Given the description of an element on the screen output the (x, y) to click on. 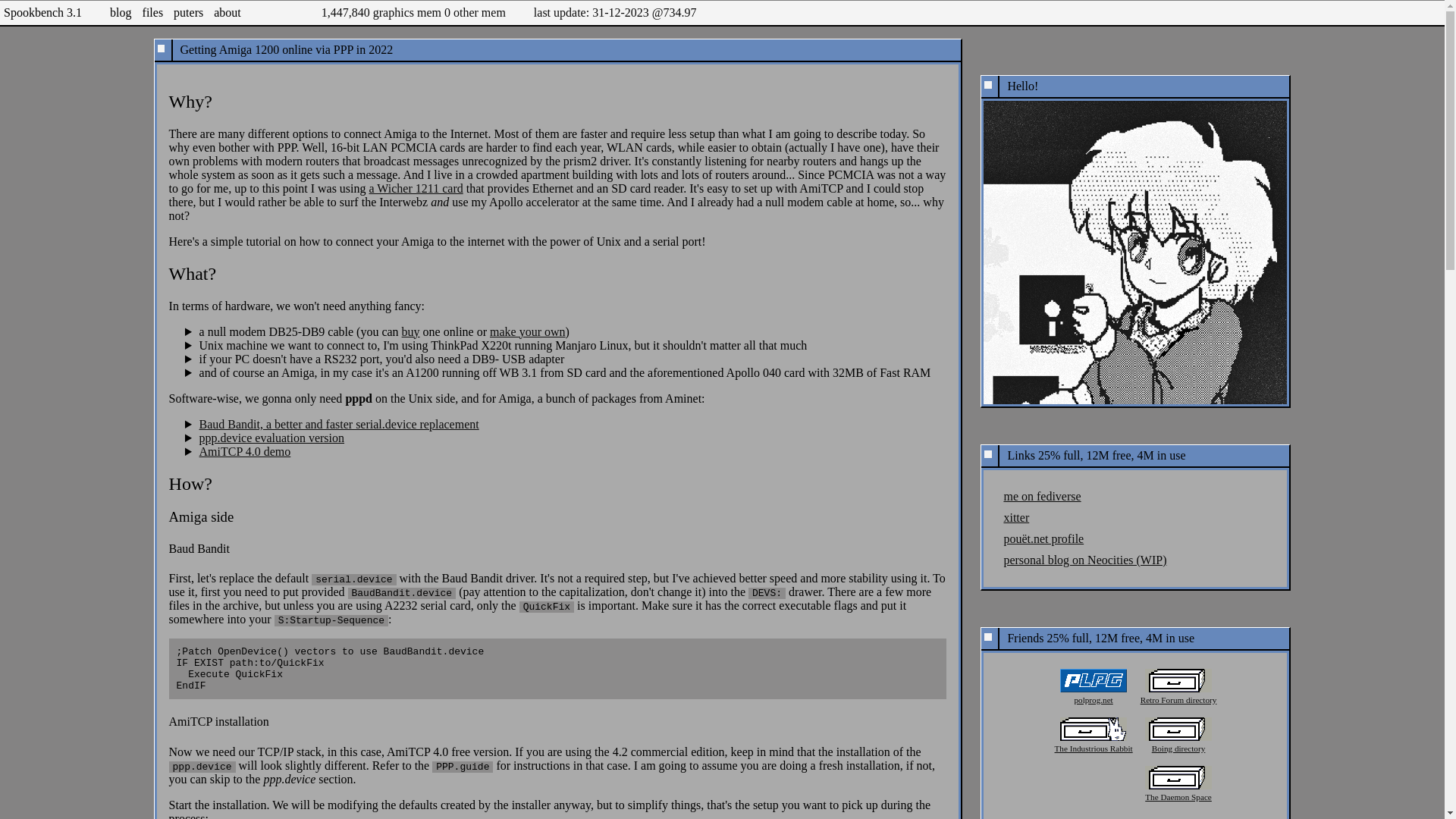
me on fediverse (1041, 496)
xitter (1016, 517)
blog (120, 12)
ppp.device evaluation version (272, 437)
AmiTCP 4.0 demo (245, 451)
polprog.net (1093, 689)
puters (188, 12)
Baud Bandit, a better and faster serial.device replacement (339, 423)
Spookbench 3.1 (42, 12)
Boing directory (1178, 737)
